Given the description of an element on the screen output the (x, y) to click on. 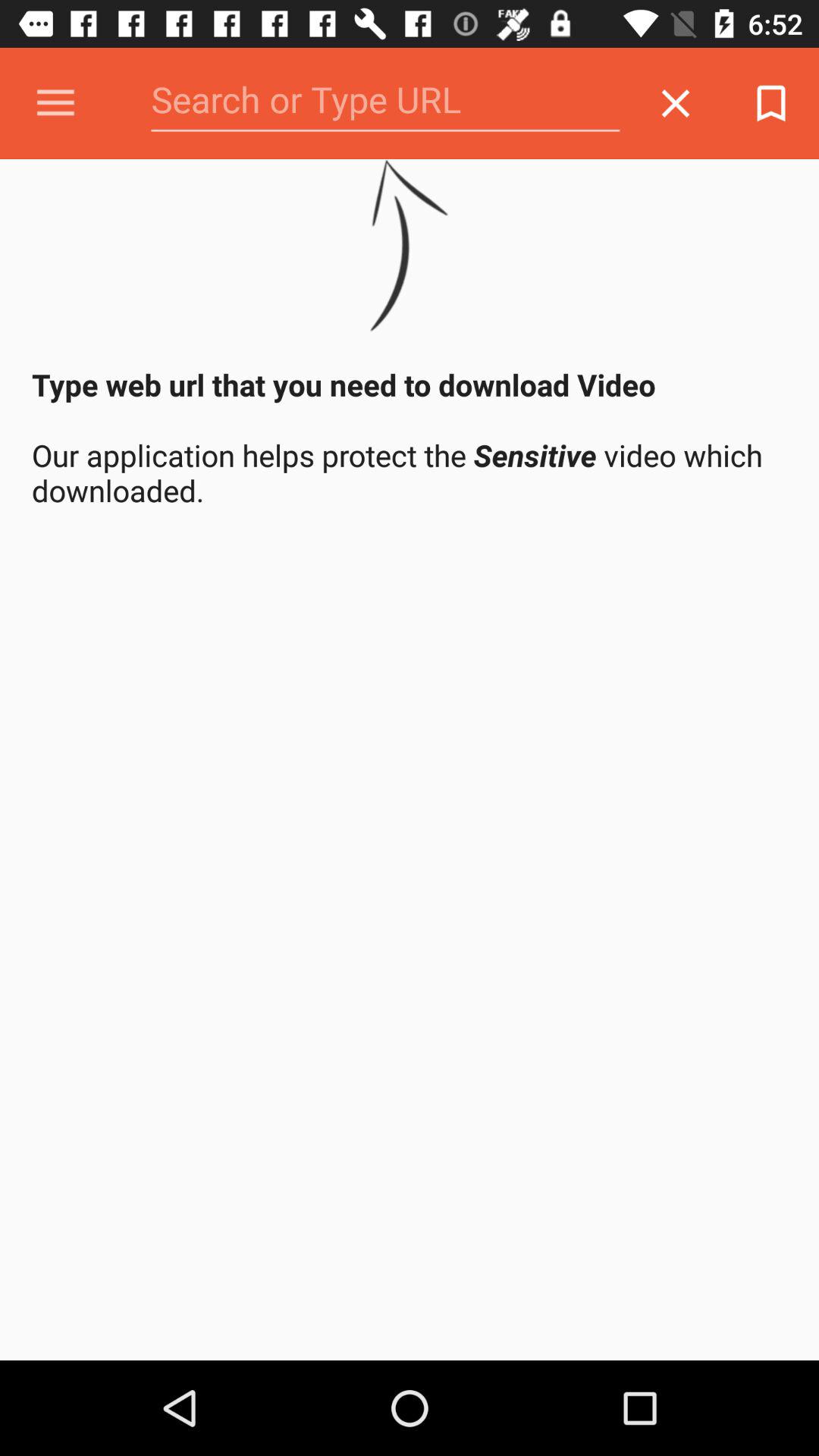
search entry box (385, 103)
